Given the description of an element on the screen output the (x, y) to click on. 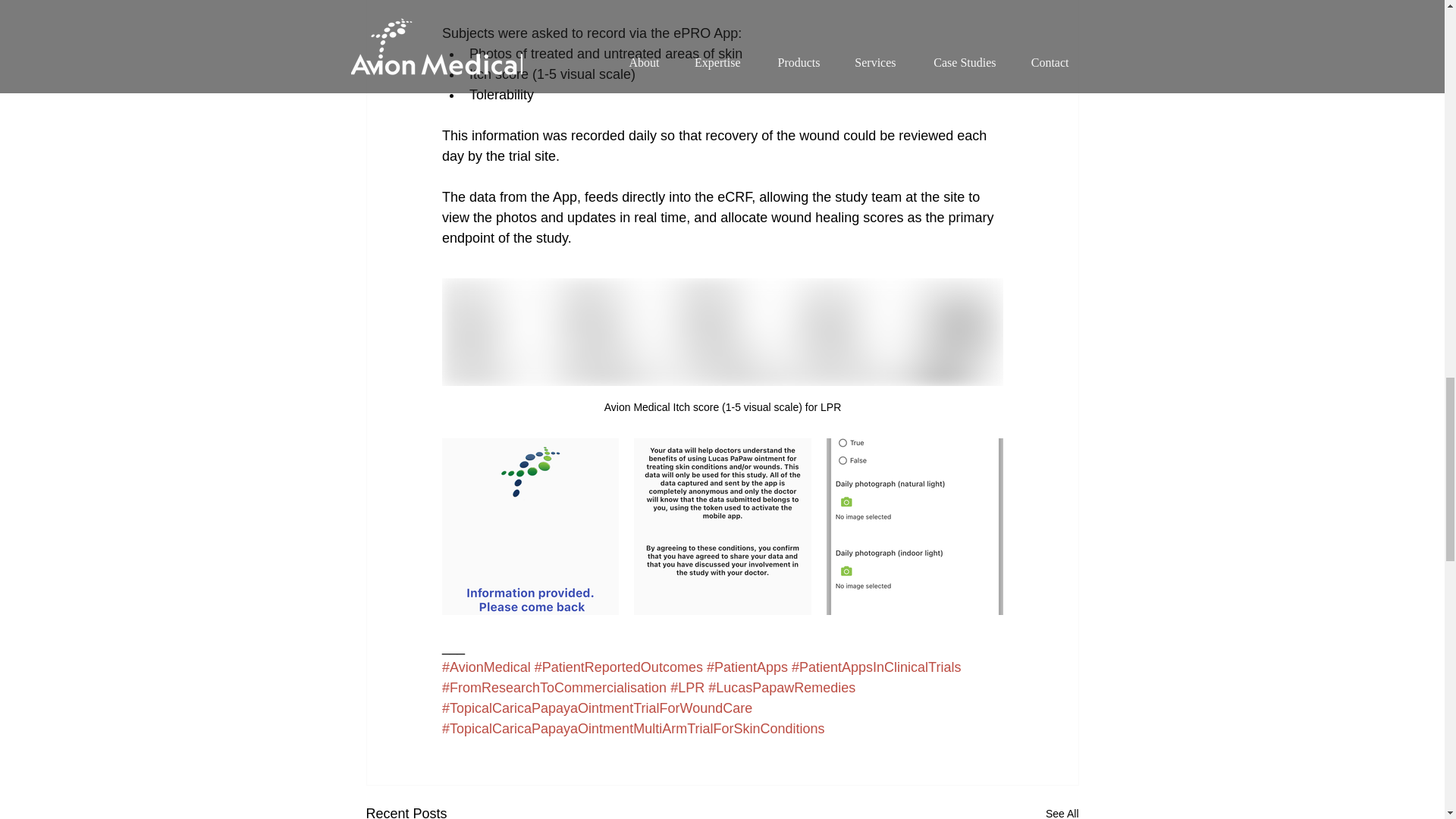
See All (1061, 811)
